Given the description of an element on the screen output the (x, y) to click on. 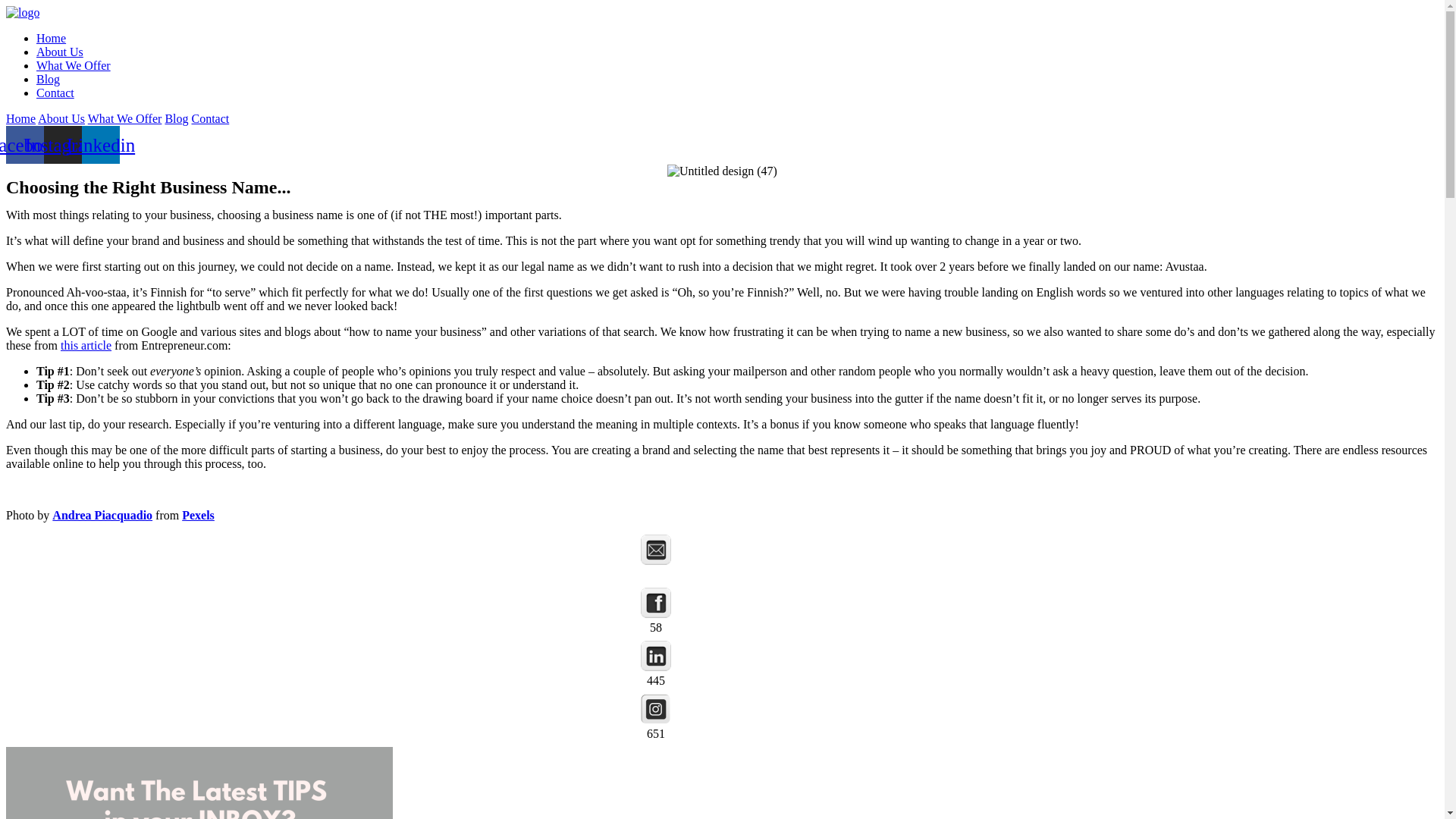
this article Element type: text (85, 344)
What We Offer Element type: text (73, 65)
Contact Element type: text (55, 92)
Instagram Element type: hover (655, 708)
Facebook Element type: text (24, 144)
Instagram Element type: text (62, 144)
Pexels Element type: text (198, 514)
Contact Element type: text (210, 118)
Blog Element type: text (47, 78)
LinkedIn Element type: hover (655, 655)
Home Element type: text (20, 118)
About Us Element type: text (60, 118)
Untitled design (47) Element type: hover (722, 171)
Home Element type: text (50, 37)
Andrea Piacquadio Element type: text (102, 514)
Linkedin Element type: text (100, 144)
Facebook Element type: hover (655, 602)
Follow by Email Element type: hover (655, 549)
About Us Element type: text (59, 51)
What We Offer Element type: text (124, 118)
Blog Element type: text (176, 118)
